Given the description of an element on the screen output the (x, y) to click on. 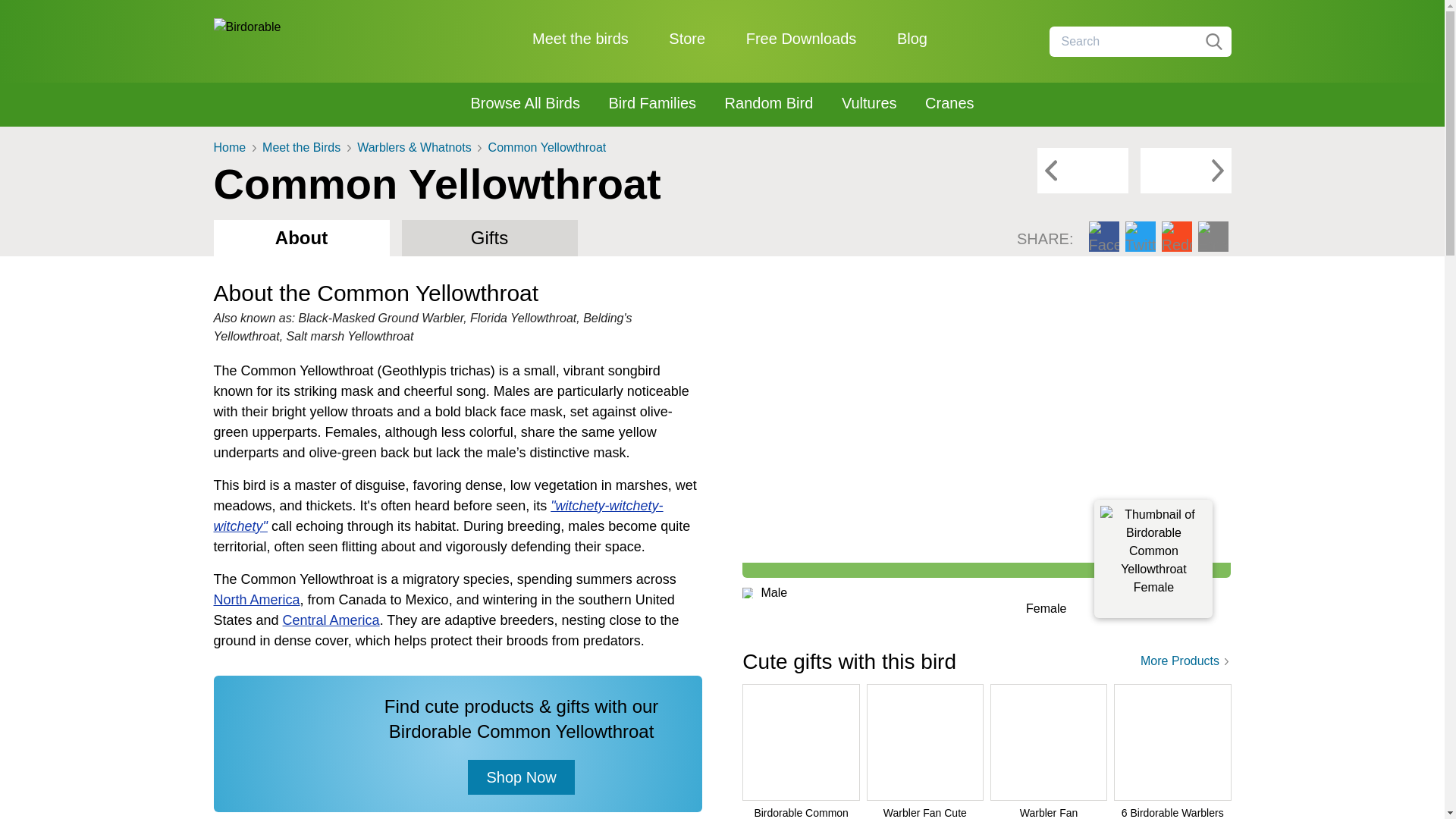
Cooper's Hawk (1185, 170)
Browse All Birds (524, 103)
Blog (911, 38)
Meet the birds (580, 38)
Store (686, 38)
Free Downloads (801, 38)
Bird Families (651, 103)
Common Wood Pigeon (1082, 170)
